Given the description of an element on the screen output the (x, y) to click on. 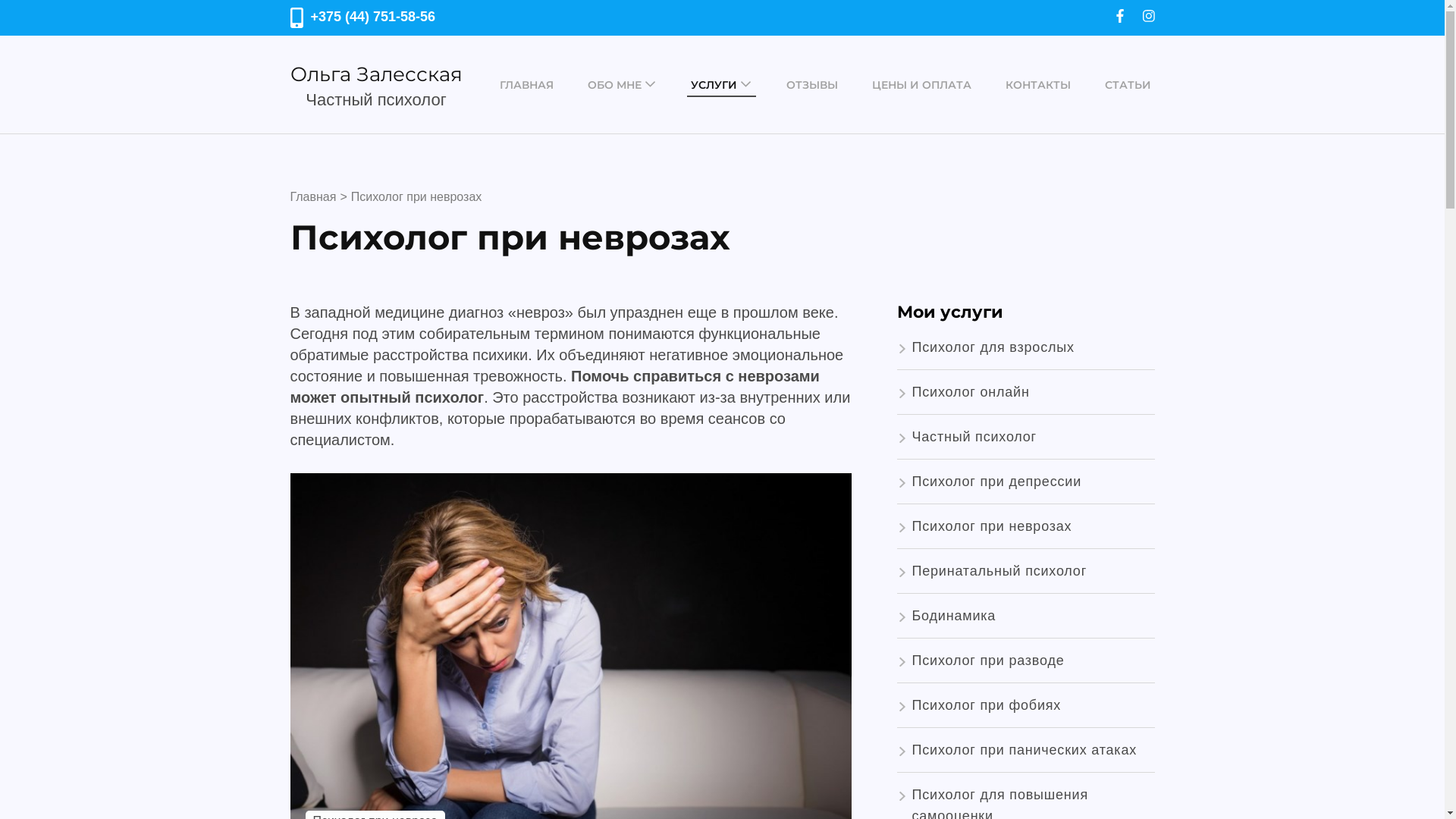
+375 (44) 751-58-56 Element type: text (372, 16)
